Given the description of an element on the screen output the (x, y) to click on. 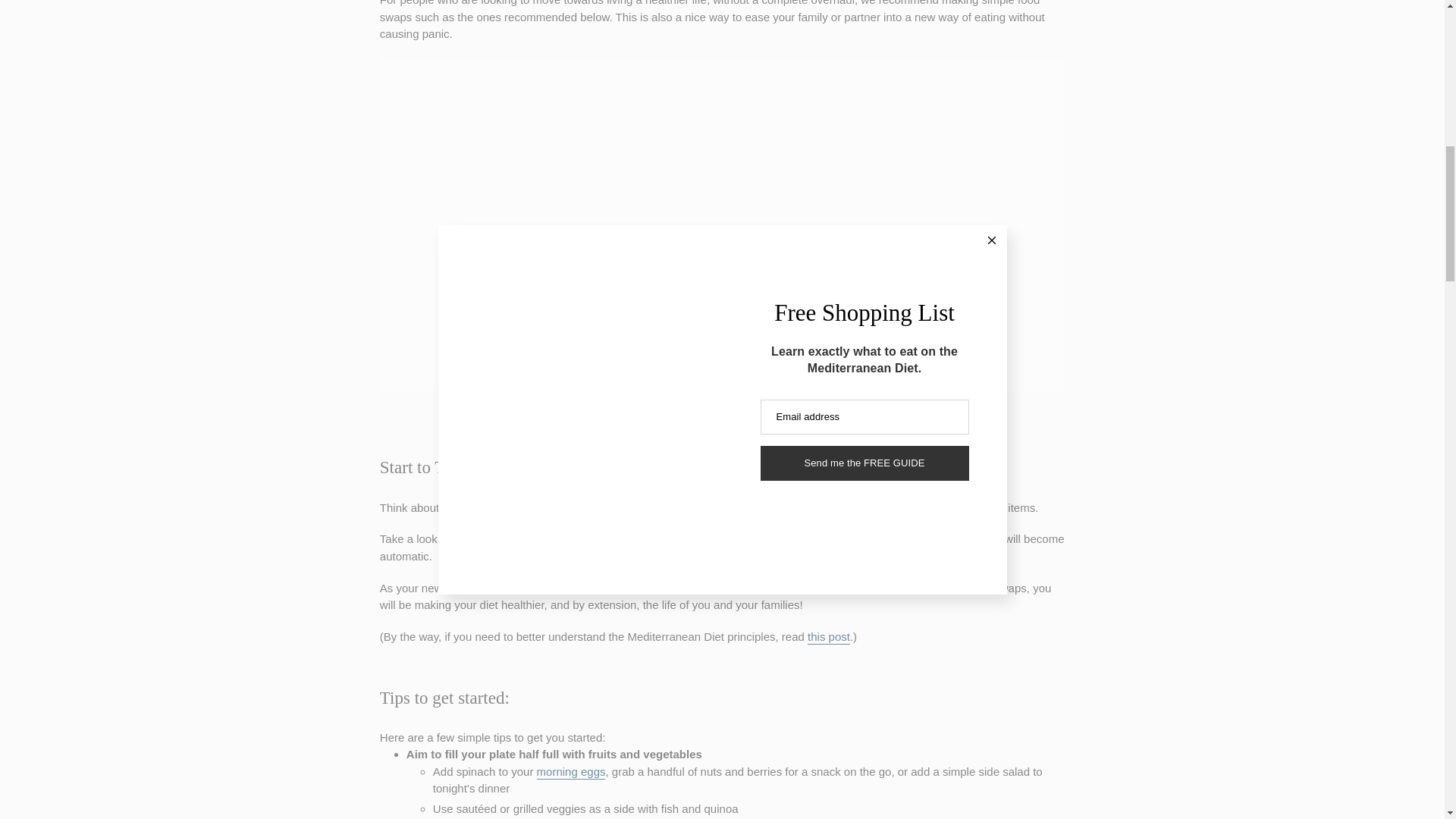
Mediterranean Egg Muffin Cups (571, 771)
Mediterranean Diet Typical Day (829, 636)
